Given the description of an element on the screen output the (x, y) to click on. 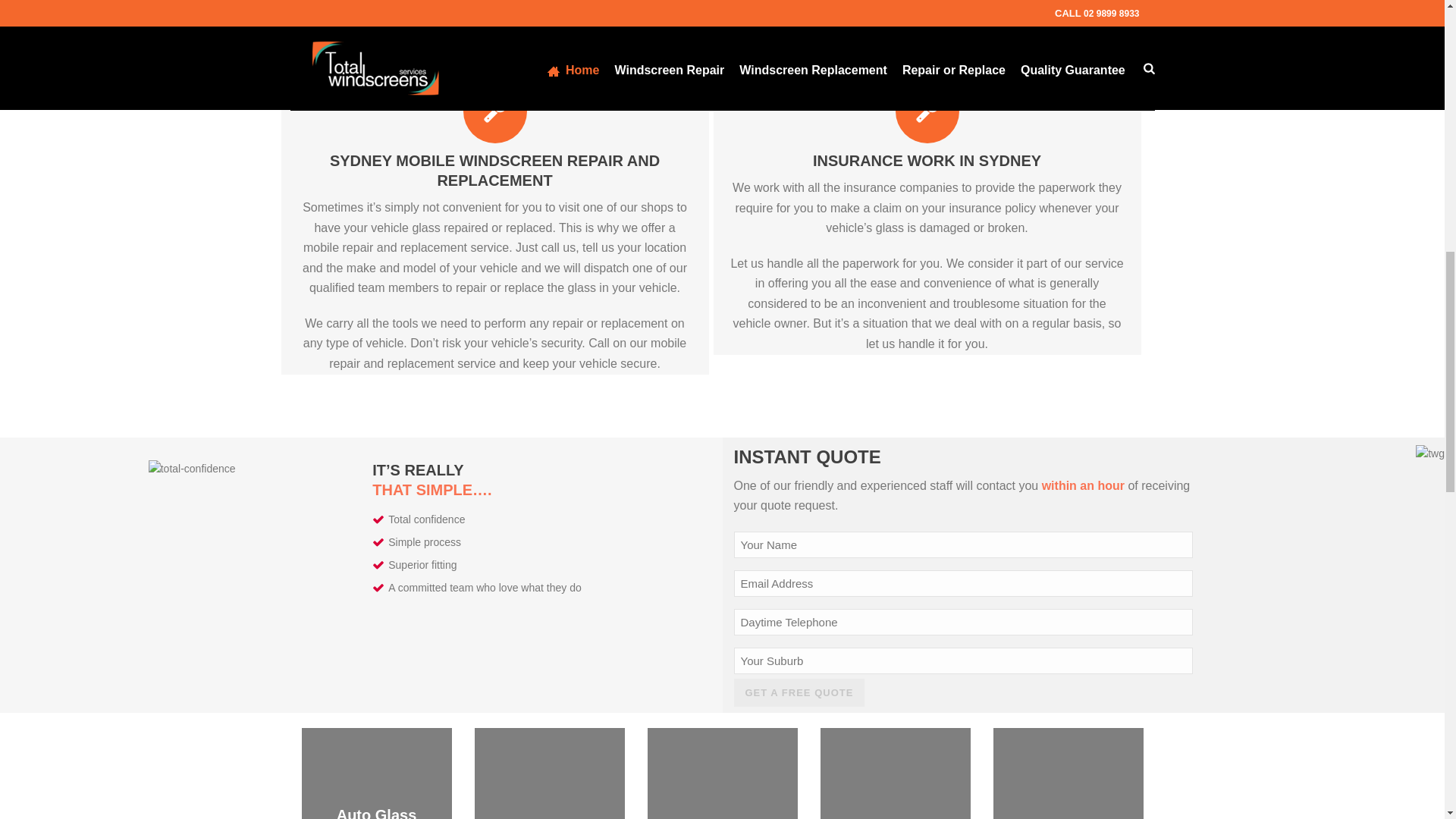
Get a Free Quote (798, 692)
total-confidence (191, 468)
Get a Free Quote (798, 692)
